Given the description of an element on the screen output the (x, y) to click on. 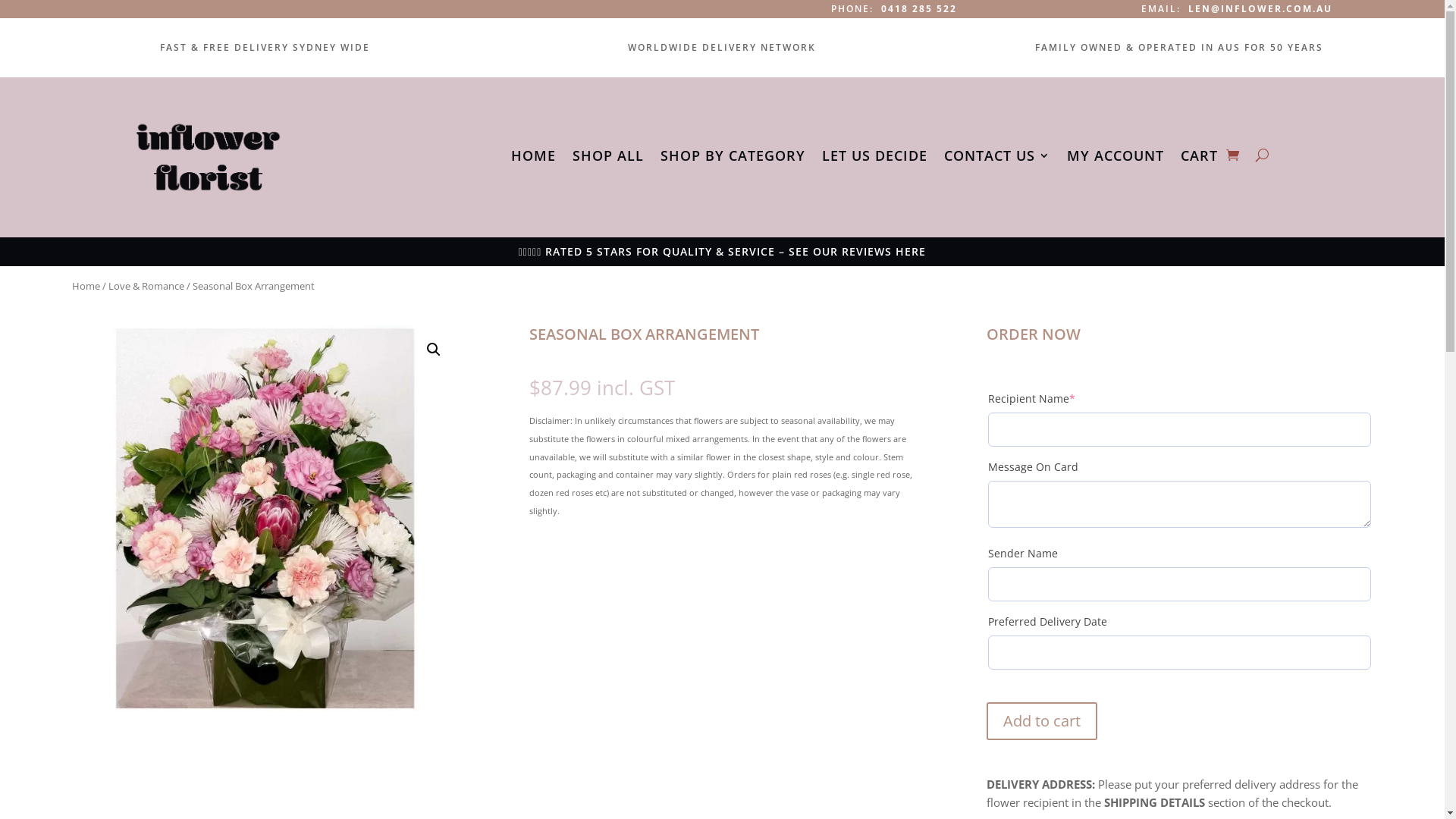
MY ACCOUNT Element type: text (1115, 158)
SEE OUR REVIEWS HERE Element type: text (856, 251)
CART Element type: text (1198, 158)
Love & Romance Element type: text (146, 285)
CONTACT US Element type: text (997, 158)
SHOP BY CATEGORY Element type: text (732, 158)
box-arrangements-inflower-florist-sydney-seasonal-2 Element type: hover (265, 518)
LET US DECIDE Element type: text (874, 158)
HOME Element type: text (533, 158)
Add to cart Element type: text (1041, 721)
SHOP ALL Element type: text (607, 158)
Home Element type: text (86, 285)
LEN@INFLOWER.COM.AU Element type: text (1260, 8)
0418 285 522 Element type: text (919, 8)
